Given the description of an element on the screen output the (x, y) to click on. 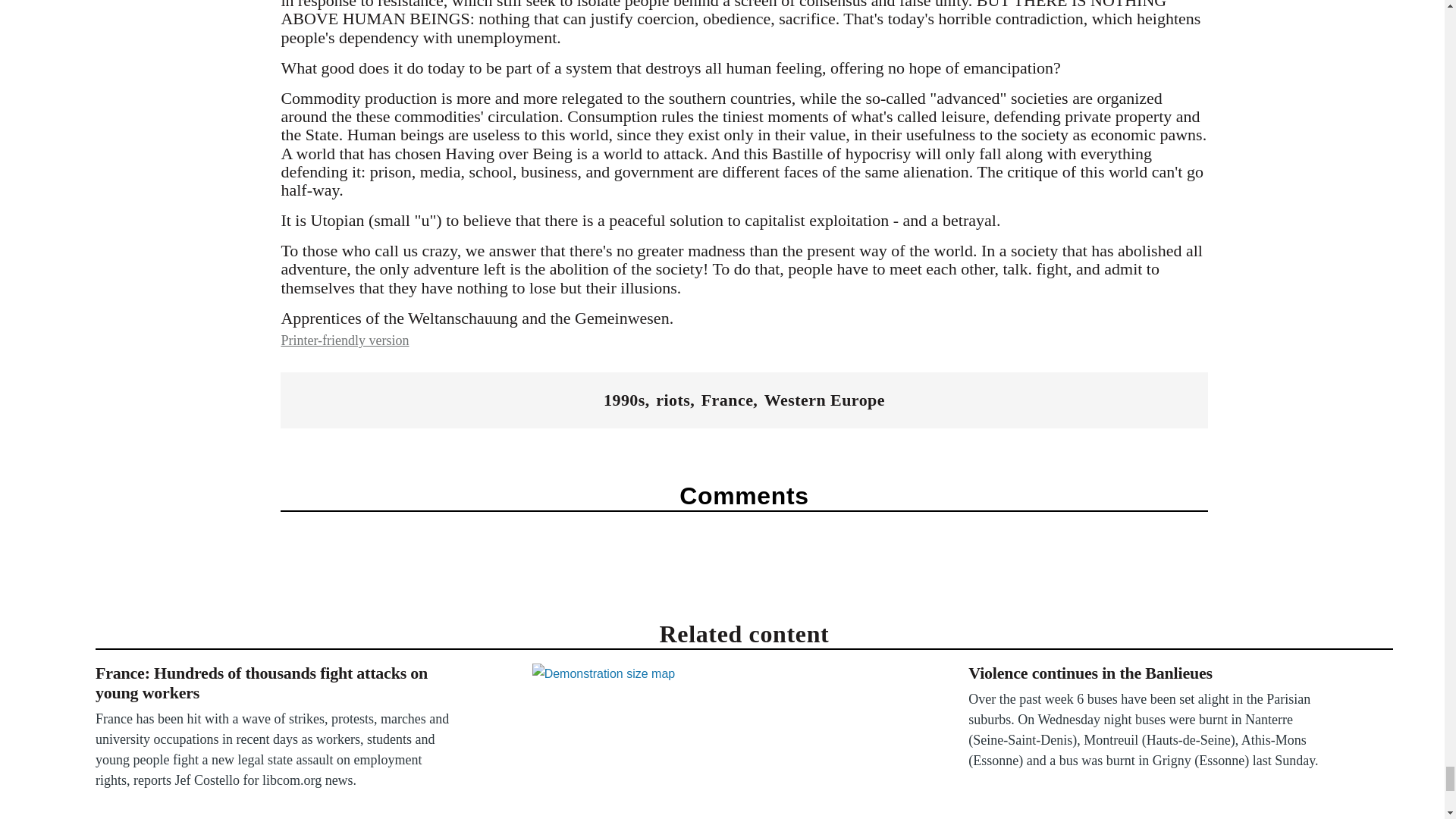
Printer-friendly version (345, 340)
riots (673, 400)
1990s (624, 400)
France (727, 400)
Demonstration size map (714, 741)
Western Europe (824, 400)
